Given the description of an element on the screen output the (x, y) to click on. 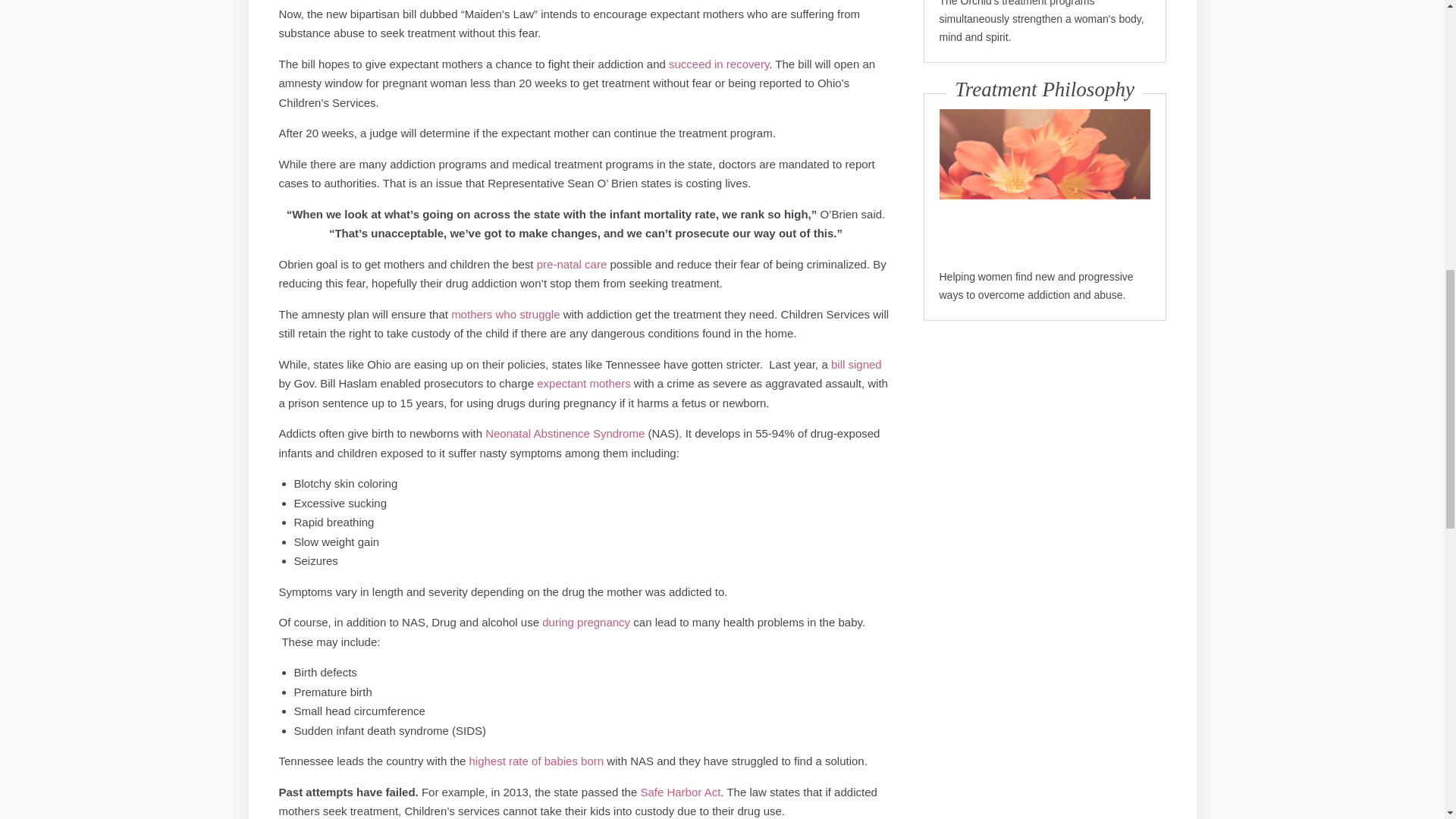
succeed in recovery (718, 63)
expectant mothers (583, 382)
pre-natal care (572, 264)
mothers who struggle (507, 314)
bill signed (856, 364)
